Given the description of an element on the screen output the (x, y) to click on. 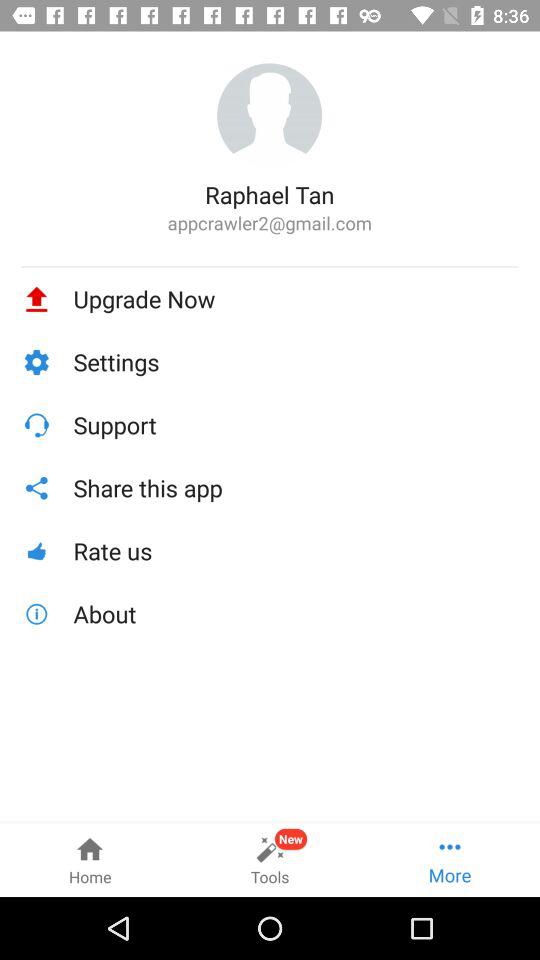
jump to the about icon (296, 614)
